Given the description of an element on the screen output the (x, y) to click on. 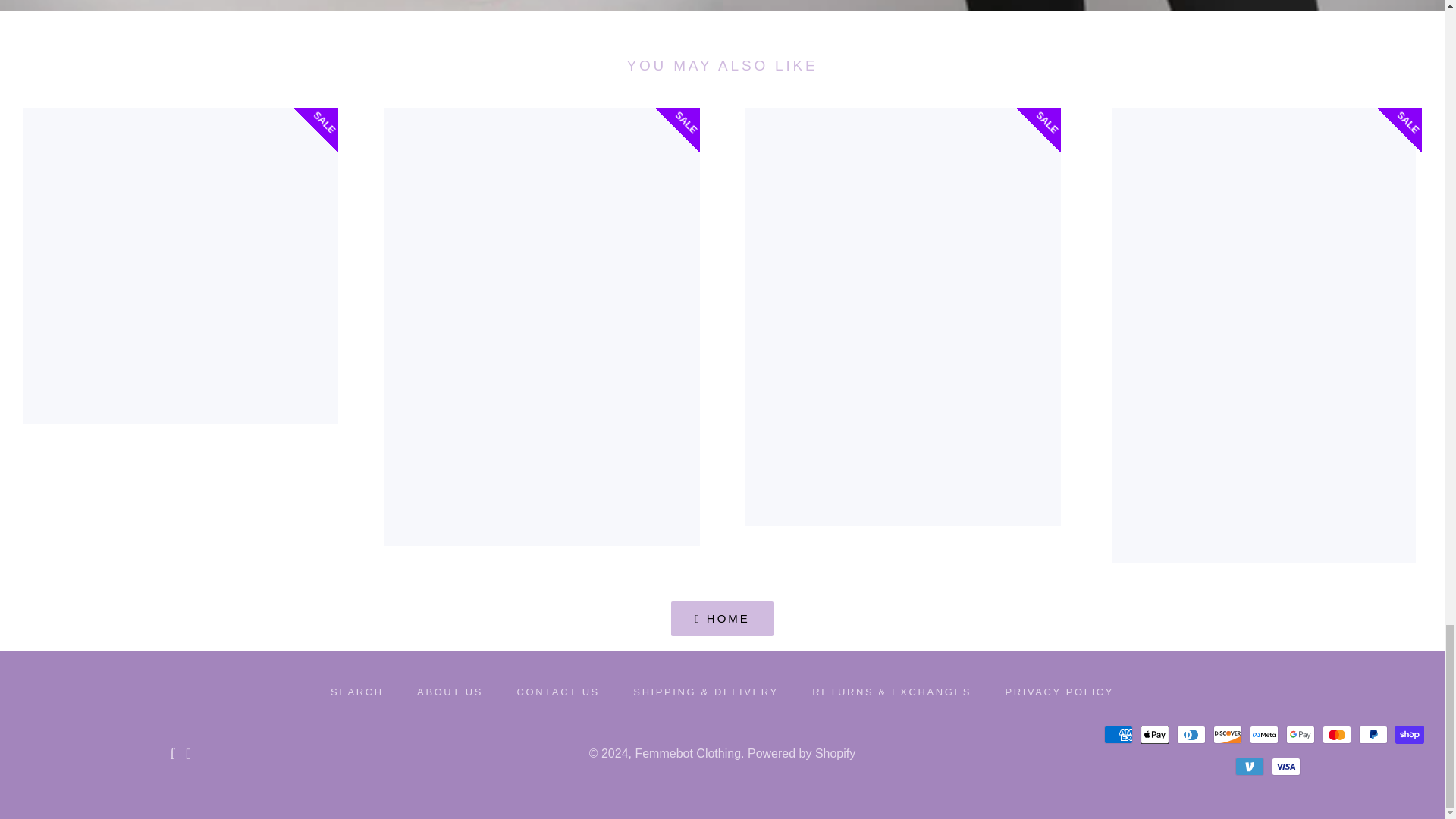
Meta Pay (1263, 734)
PayPal (1372, 734)
Shop Pay (1408, 734)
American Express (1117, 734)
Venmo (1248, 766)
Google Pay (1299, 734)
Visa (1285, 766)
Mastercard (1336, 734)
Diners Club (1190, 734)
Discover (1226, 734)
